Given the description of an element on the screen output the (x, y) to click on. 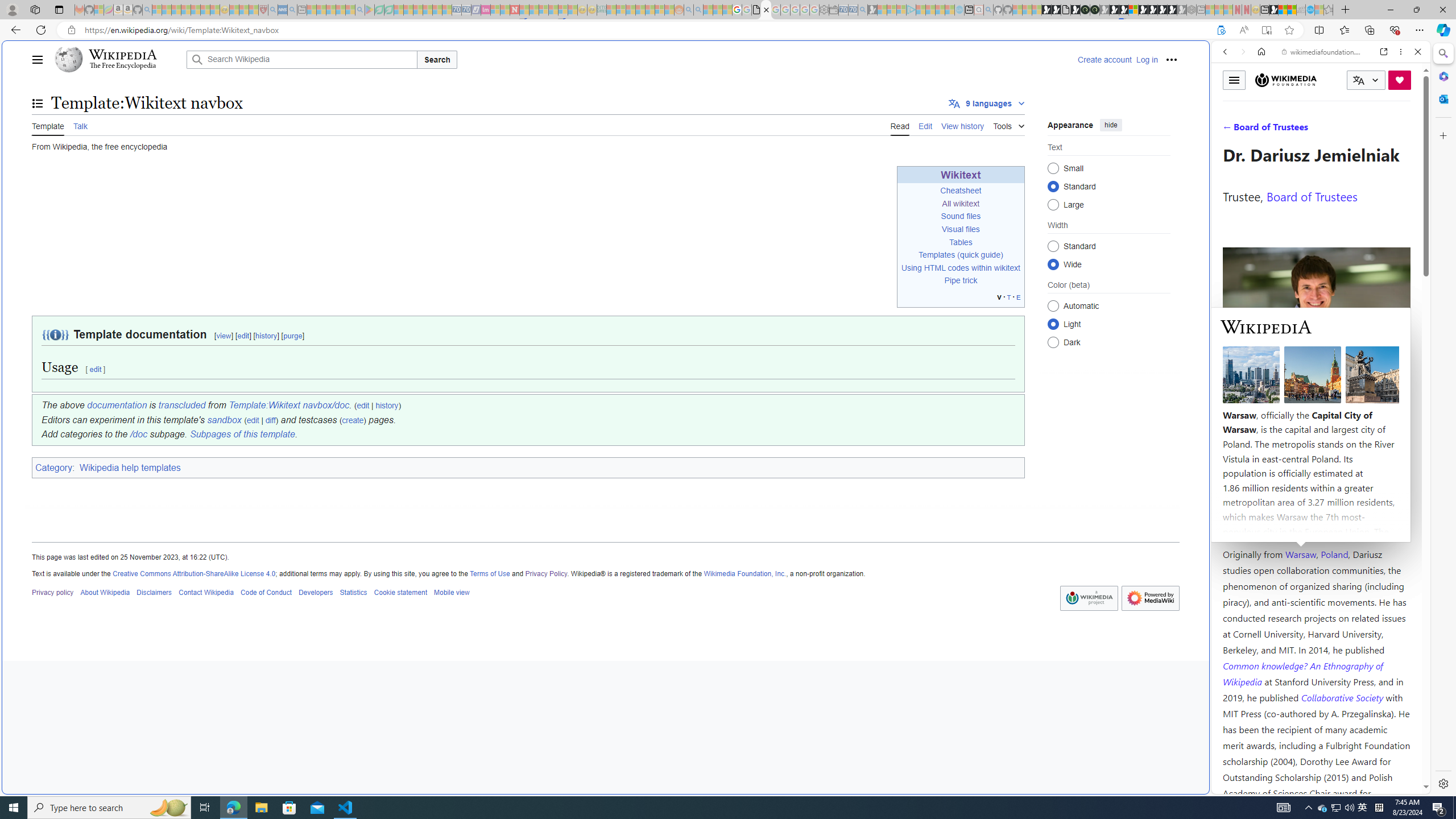
Disclaimers (153, 591)
Wikipedia help templates (130, 467)
Future Focus Report 2024 (1094, 9)
Collaborative Society  (1343, 697)
Create account (1104, 58)
Developers (315, 592)
